Given the description of an element on the screen output the (x, y) to click on. 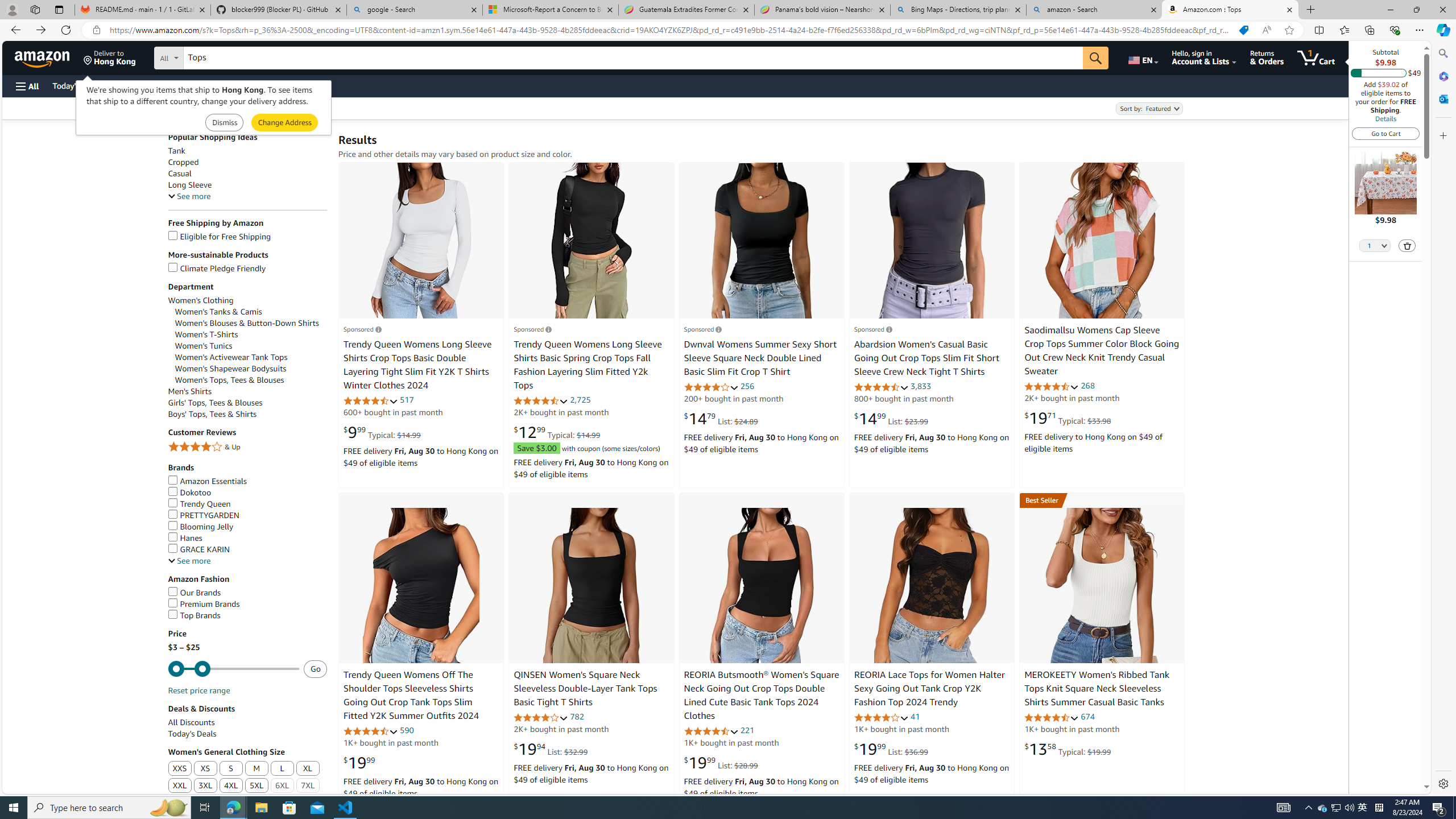
Go (1096, 57)
4 Stars & Up (247, 447)
Boys' Tops, Tees & Shirts (247, 414)
M (255, 769)
Men's Shirts (189, 391)
Climate Pledge Friendly (247, 268)
4XL (230, 785)
XXS (179, 769)
517 (406, 399)
2,725 (580, 399)
Boys' Tops, Tees & Shirts (212, 413)
Cropped (247, 162)
7XL (307, 785)
